Given the description of an element on the screen output the (x, y) to click on. 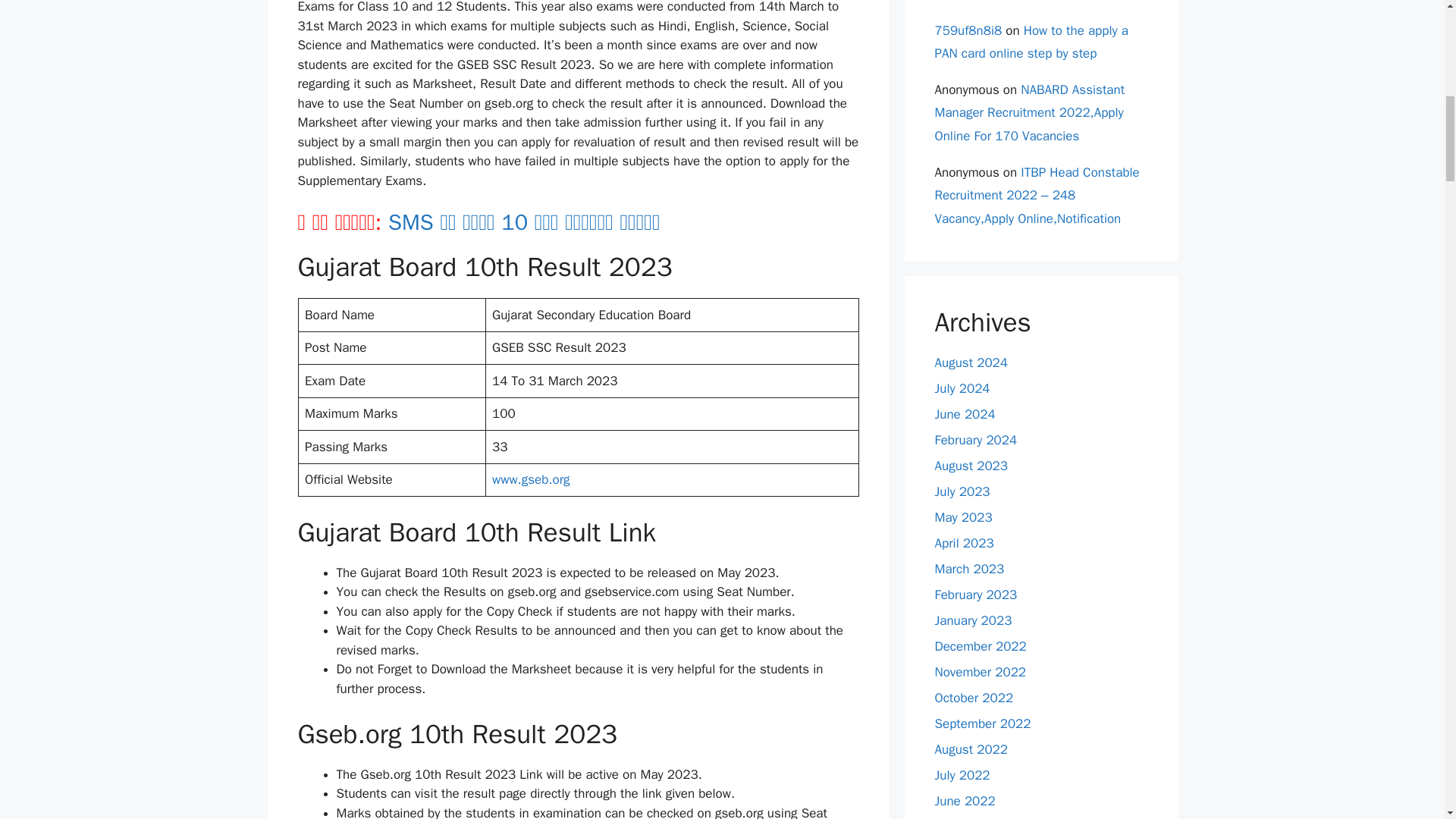
www.gseb.org (531, 479)
August 2024 (970, 362)
How to the apply a PAN card online step by step (1030, 42)
759uf8n8i8 (967, 30)
February 2024 (975, 439)
June 2024 (964, 414)
July 2024 (962, 388)
July 2023 (962, 491)
August 2023 (970, 465)
